Given the description of an element on the screen output the (x, y) to click on. 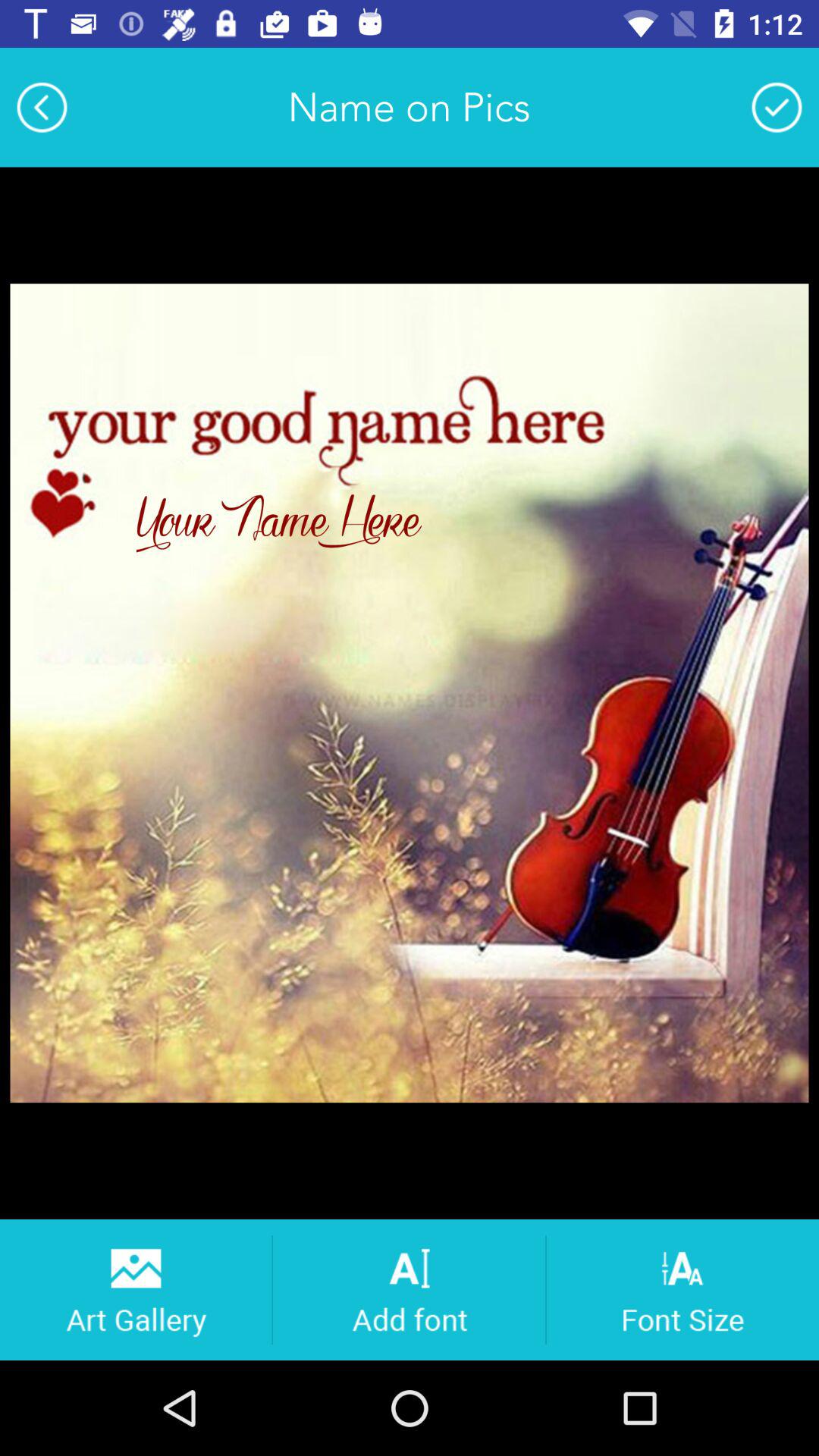
click to add a font (409, 1289)
